Given the description of an element on the screen output the (x, y) to click on. 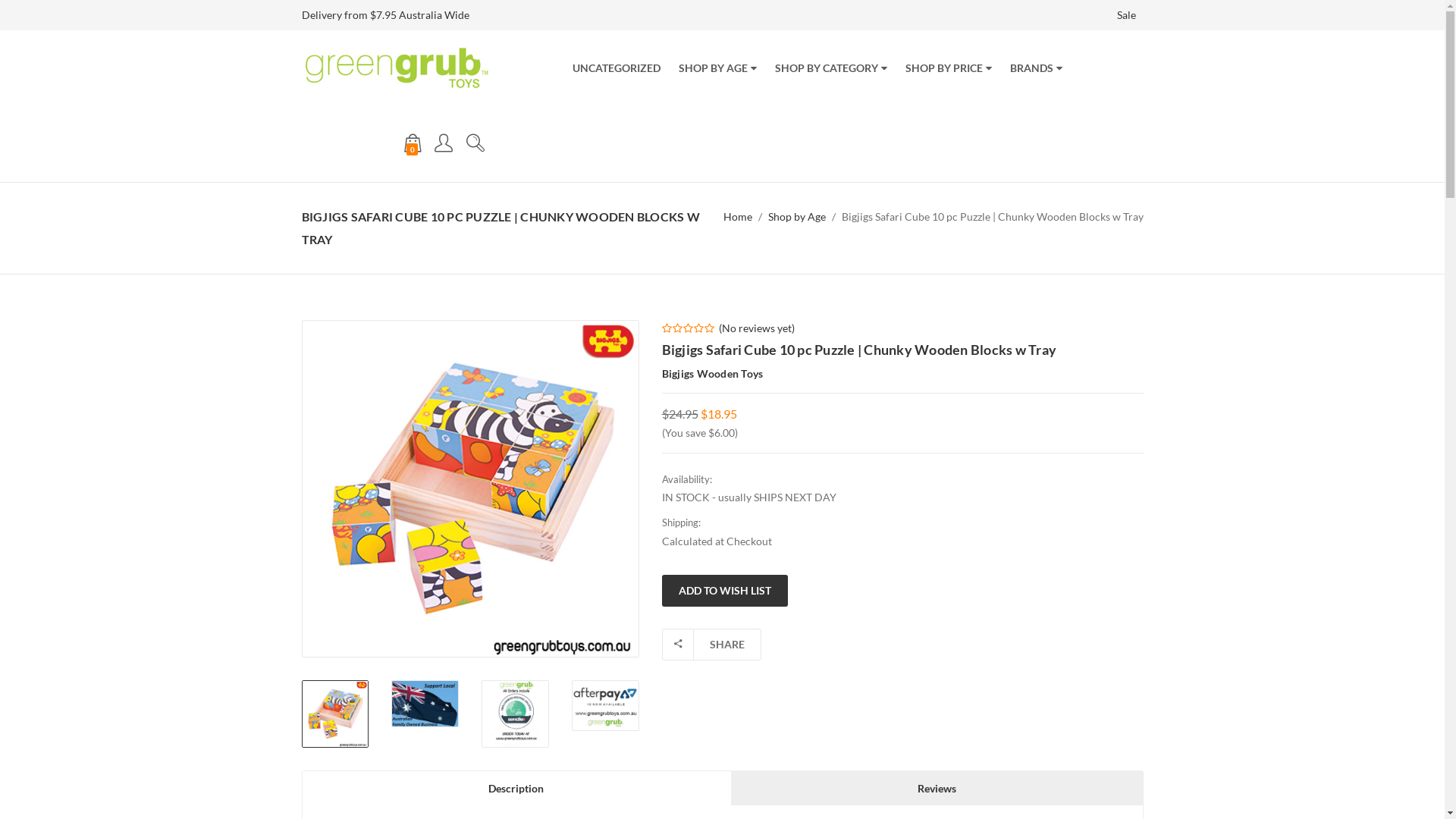
Bigjigs Wooden Toys Element type: text (711, 373)
Description Element type: text (515, 788)
0 Element type: text (412, 144)
(No reviews yet) Element type: text (756, 327)
SHOP BY CATEGORY Element type: text (830, 68)
Add to Wish list Element type: text (724, 590)
Greengrub Wooden Toys Element type: hover (396, 68)
SHARE Element type: text (710, 644)
SHOP BY AGE Element type: text (716, 68)
Shop by Age Element type: text (796, 216)
Sale Element type: text (1125, 15)
BRANDS Element type: text (1036, 68)
Reviews Element type: text (936, 788)
Home Element type: text (737, 216)
SHOP BY PRICE Element type: text (948, 68)
UNCATEGORIZED Element type: text (615, 68)
